Given the description of an element on the screen output the (x, y) to click on. 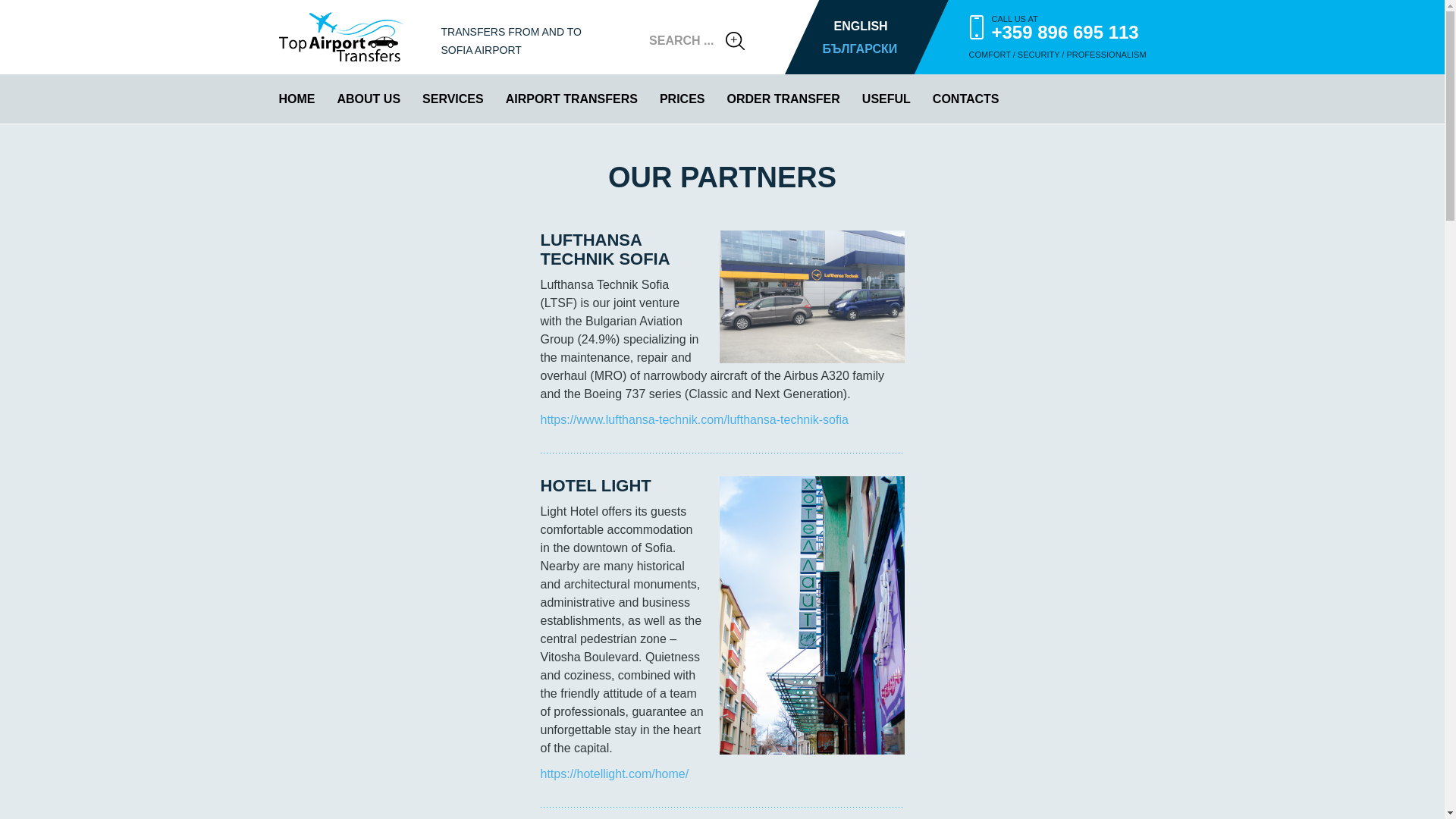
Search (734, 40)
AIRPORT TRANSFERS (571, 99)
TopAirportTransfers - Airport transfers (341, 37)
USEFUL (886, 99)
Hotel Light (811, 614)
Lufthansa Technik Sofia (811, 296)
CONTACTS (965, 99)
ENGLISH (866, 26)
PRICES (681, 99)
ORDER TRANSFER (783, 99)
SERVICES (452, 99)
HOME (297, 99)
ABOUT US (368, 99)
